Given the description of an element on the screen output the (x, y) to click on. 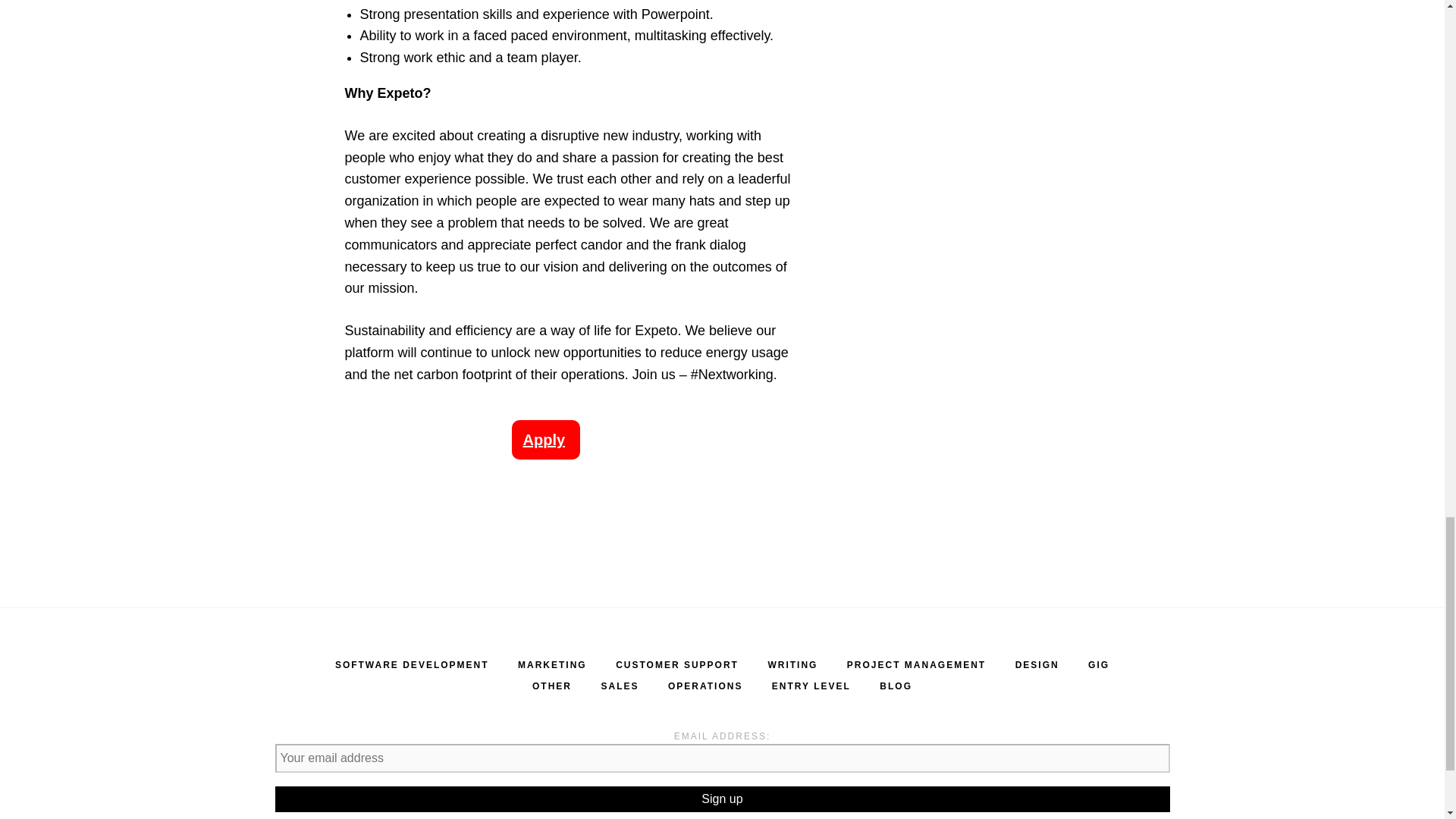
Apply (545, 439)
PROJECT MANAGEMENT (916, 665)
GIG (1098, 665)
SOFTWARE DEVELOPMENT (411, 665)
OTHER (552, 685)
ENTRY LEVEL (810, 685)
OPERATIONS (705, 685)
Sign up (722, 799)
SALES (619, 685)
Sign up (722, 799)
